Given the description of an element on the screen output the (x, y) to click on. 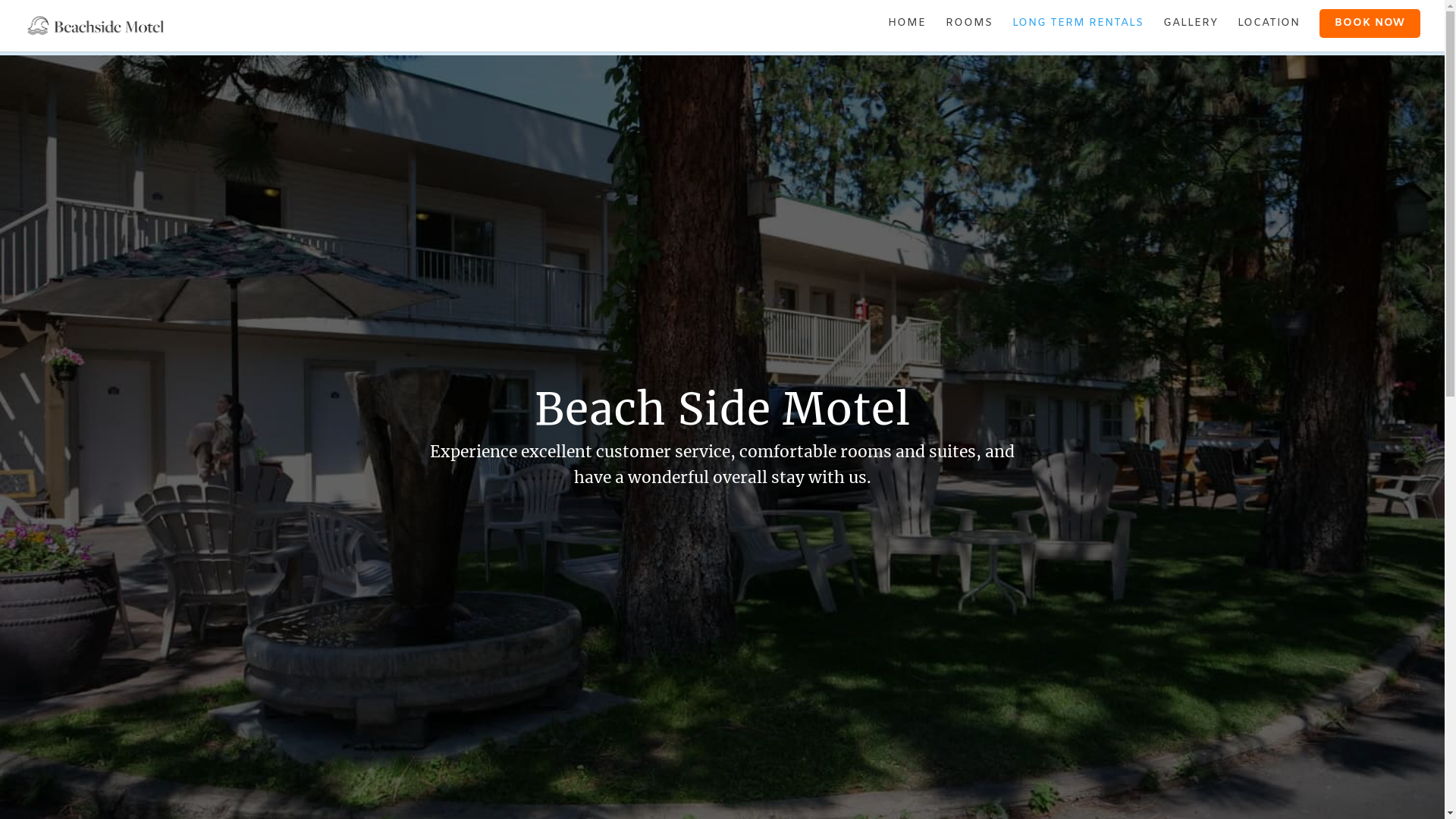
ROOMS Element type: text (968, 30)
GALLERY Element type: text (1190, 30)
LOCATION Element type: text (1268, 30)
HOME Element type: text (906, 30)
BOOK NOW Element type: text (1369, 23)
LONG TERM RENTALS Element type: text (1077, 30)
